Given the description of an element on the screen output the (x, y) to click on. 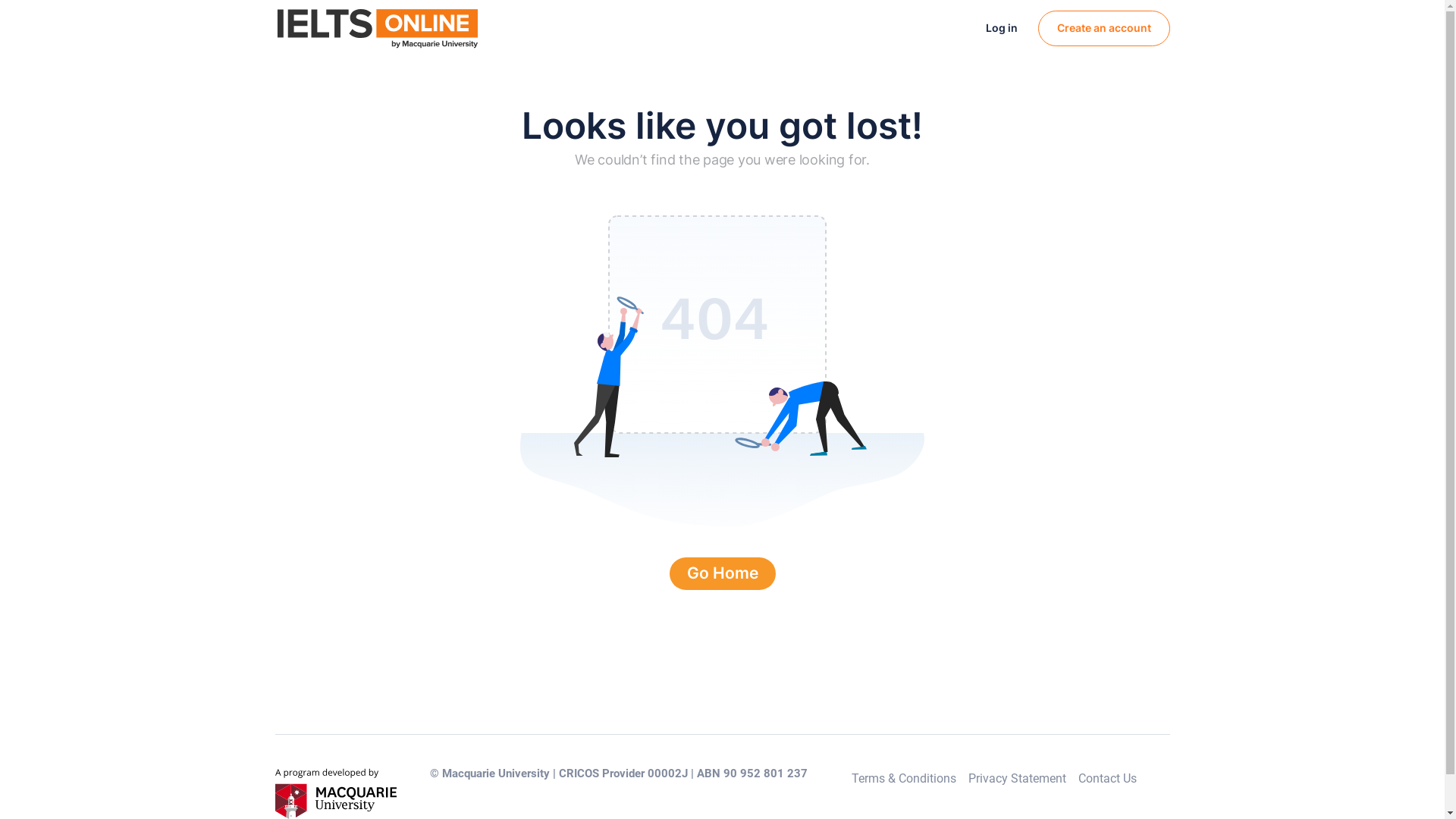
Create an account Element type: text (1103, 28)
Contact Us Element type: text (1107, 778)
Go Home Element type: text (721, 573)
Privacy Statement Element type: text (1017, 778)
Log in Element type: text (1001, 27)
Terms & Conditions Element type: text (903, 778)
